Given the description of an element on the screen output the (x, y) to click on. 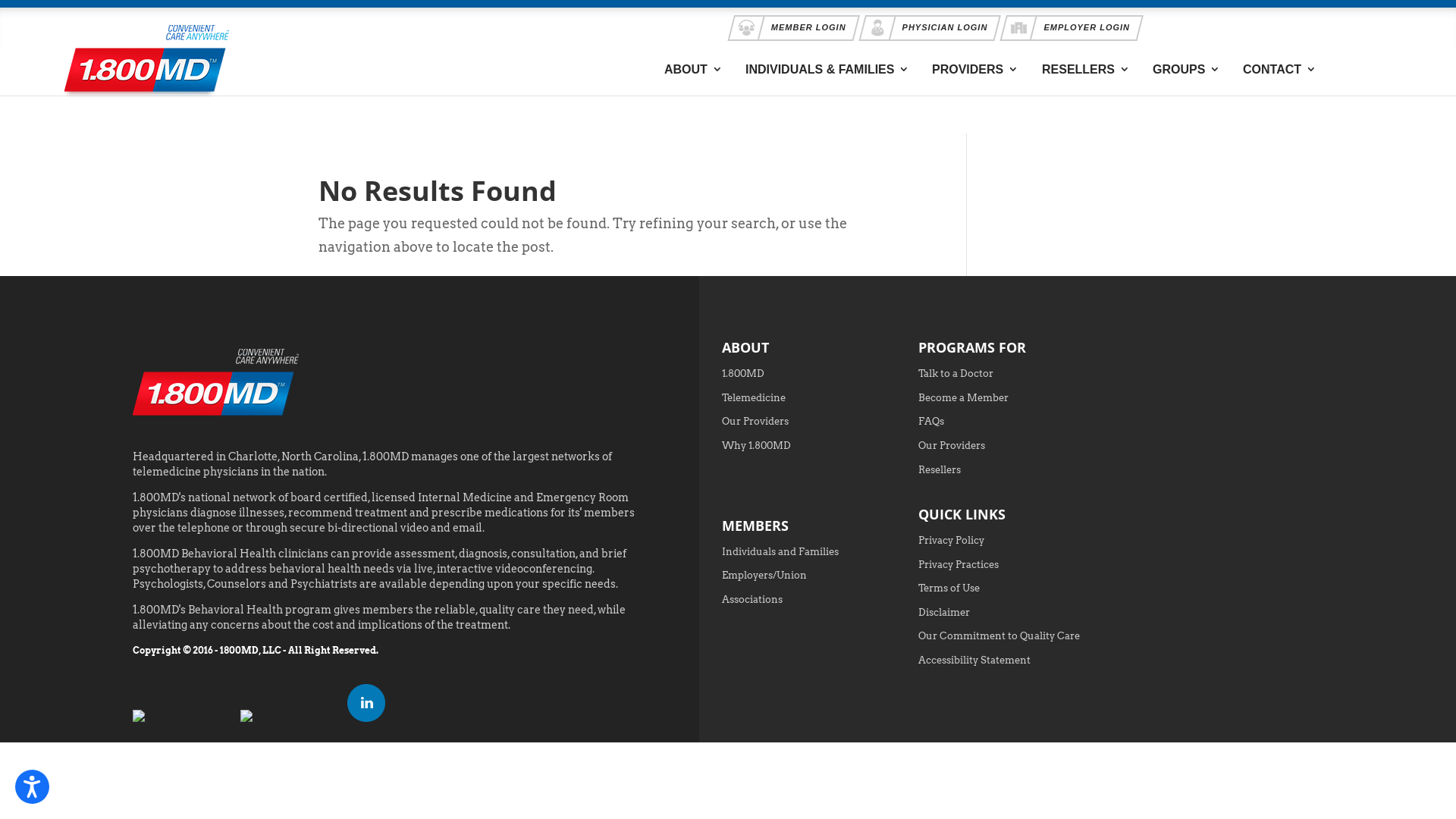
Associations Element type: text (751, 599)
PROVIDERS Element type: text (974, 69)
Why 1.800MD Element type: text (755, 445)
Disclaimer Element type: text (943, 612)
ABOUT Element type: text (693, 69)
INDIVIDUALS & FAMILIES Element type: text (827, 69)
Telemedicine Element type: text (753, 397)
CONTACT Element type: text (1279, 69)
Talk to a Doctor Element type: text (955, 373)
GROUPS Element type: text (1186, 69)
Become a Member Element type: text (963, 397)
Privacy Practices Element type: text (958, 564)
RESELLERS Element type: text (1085, 69)
Terms of Use Element type: text (948, 587)
MEMBER LOGIN Element type: text (795, 24)
1.800MD Element type: text (742, 373)
PHYSICIAN LOGIN Element type: text (931, 24)
Our Commitment to Quality Care Element type: text (998, 635)
Accessibility Statement Element type: text (974, 659)
EMPLOYER LOGIN Element type: text (1073, 24)
Employers/Union Element type: text (763, 574)
Resellers Element type: text (939, 469)
FAQs Element type: text (931, 420)
Individuals and Families Element type: text (779, 551)
Privacy Policy Element type: text (951, 540)
Our Providers Element type: text (951, 445)
Our Providers Element type: text (754, 420)
